Given the description of an element on the screen output the (x, y) to click on. 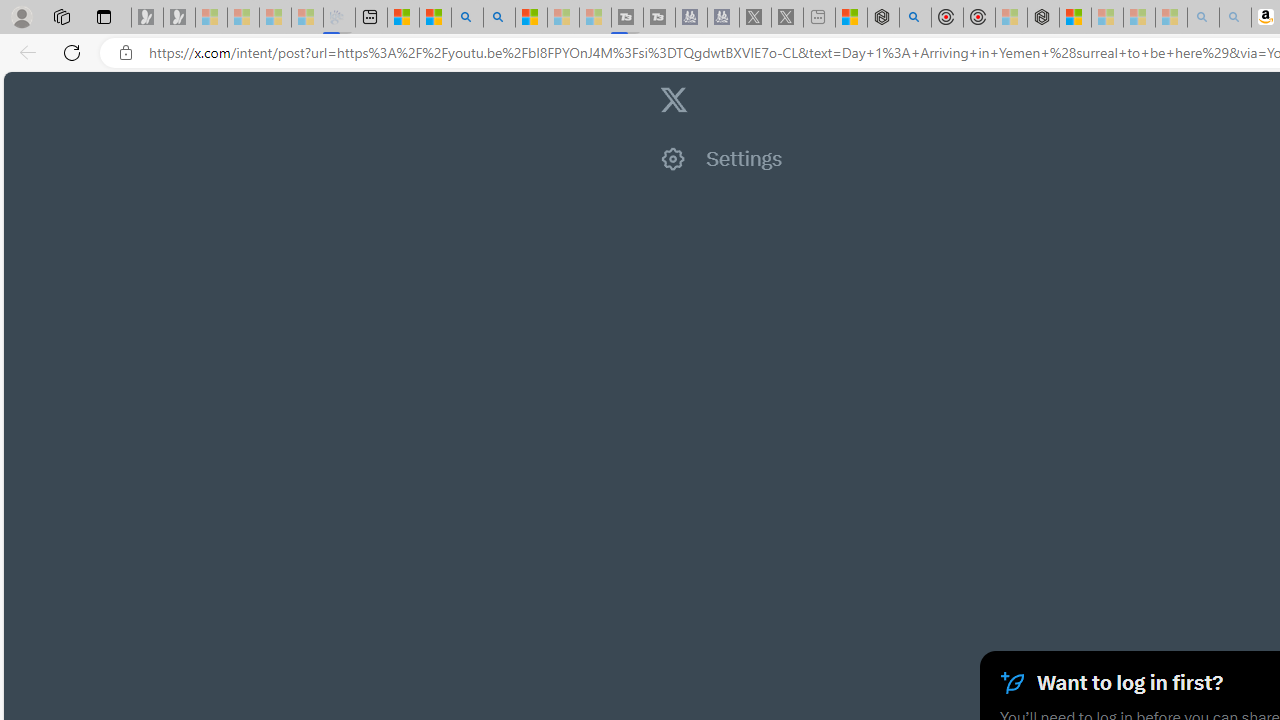
Streaming Coverage | T3 - Sleeping (626, 17)
Back (24, 52)
Wildlife - MSN (850, 17)
View site information (125, 53)
New tab - Sleeping (818, 17)
Search (498, 17)
